Given the description of an element on the screen output the (x, y) to click on. 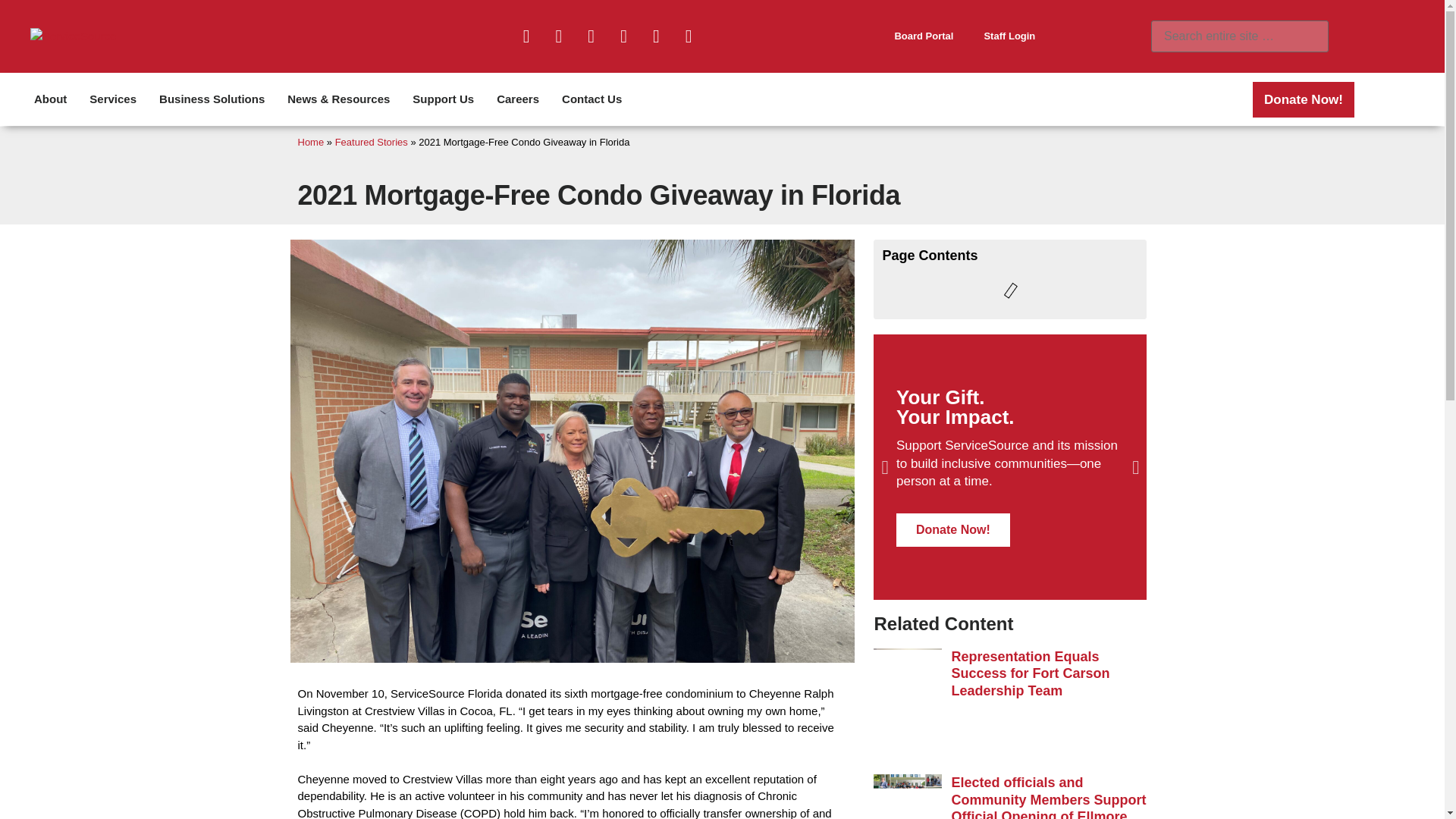
Services (113, 99)
ServiceSource-notag-white (73, 36)
Board Portal (923, 36)
Staff Login (1008, 36)
About (50, 99)
